Given the description of an element on the screen output the (x, y) to click on. 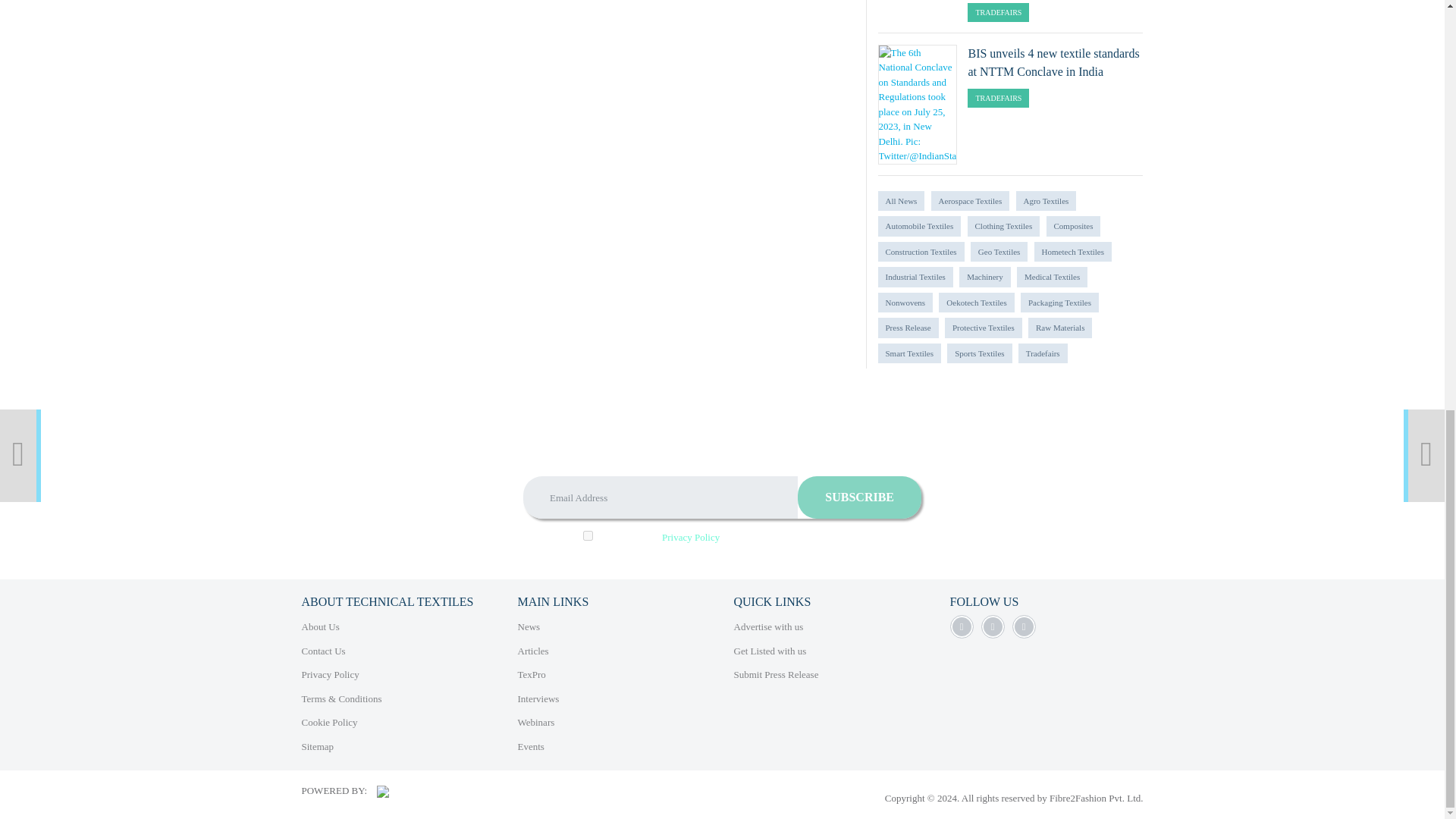
yes (587, 535)
